Given the description of an element on the screen output the (x, y) to click on. 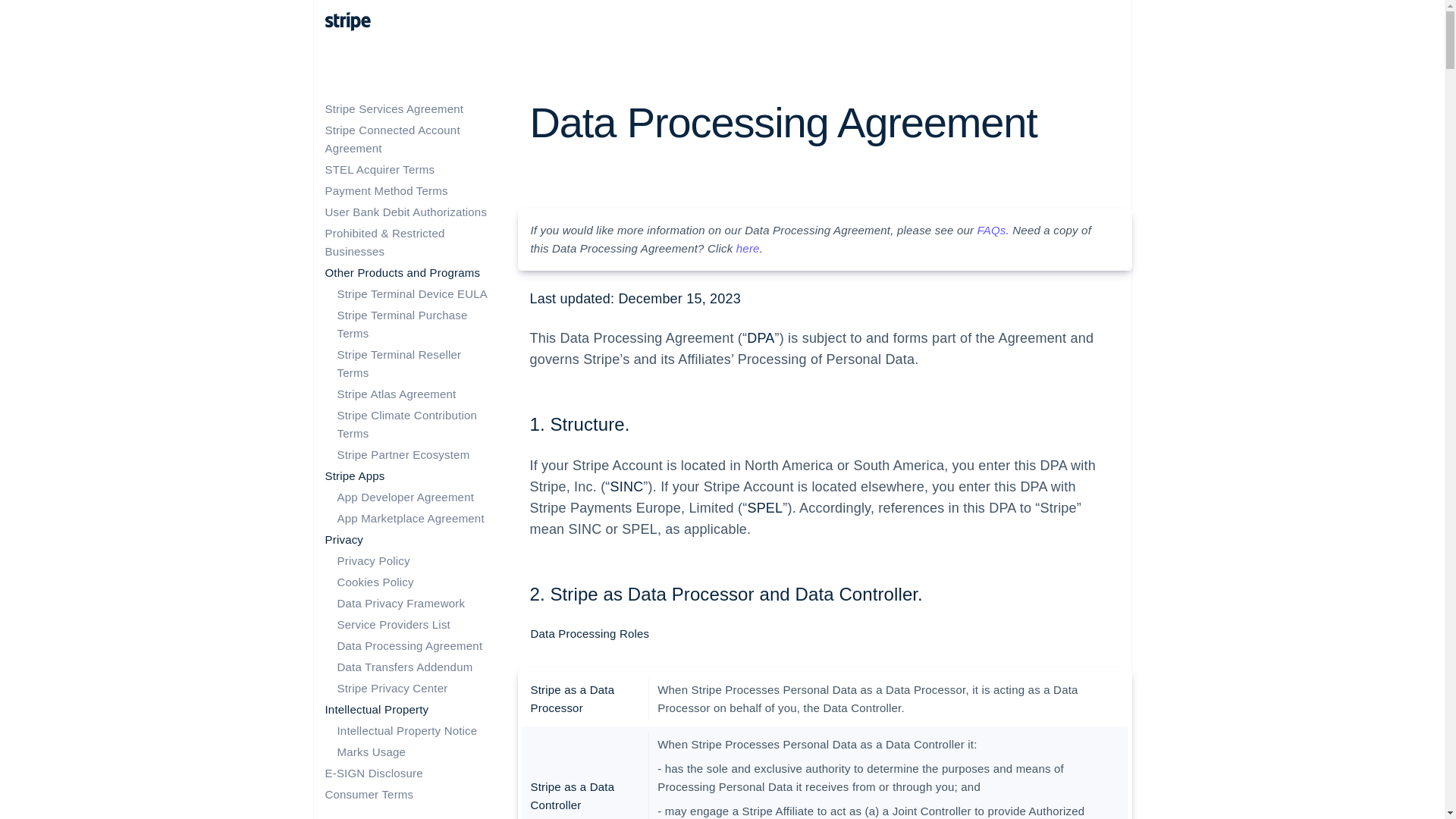
Stripe Terminal Device EULA (411, 293)
Data Privacy Framework (400, 603)
Data Transfers Addendum (403, 666)
Intellectual Property Notice (406, 730)
Stripe Partner Ecosystem (402, 454)
Stripe Climate Contribution Terms (406, 423)
Stripe Terminal Reseller Terms (398, 363)
Consumer Terms (368, 793)
Payment Method Terms (385, 190)
here (748, 247)
FAQs (991, 229)
STEL Acquirer Terms (378, 169)
Stripe Terminal Purchase Terms (401, 323)
Service Providers List (392, 624)
E-SIGN Disclosure (373, 772)
